Given the description of an element on the screen output the (x, y) to click on. 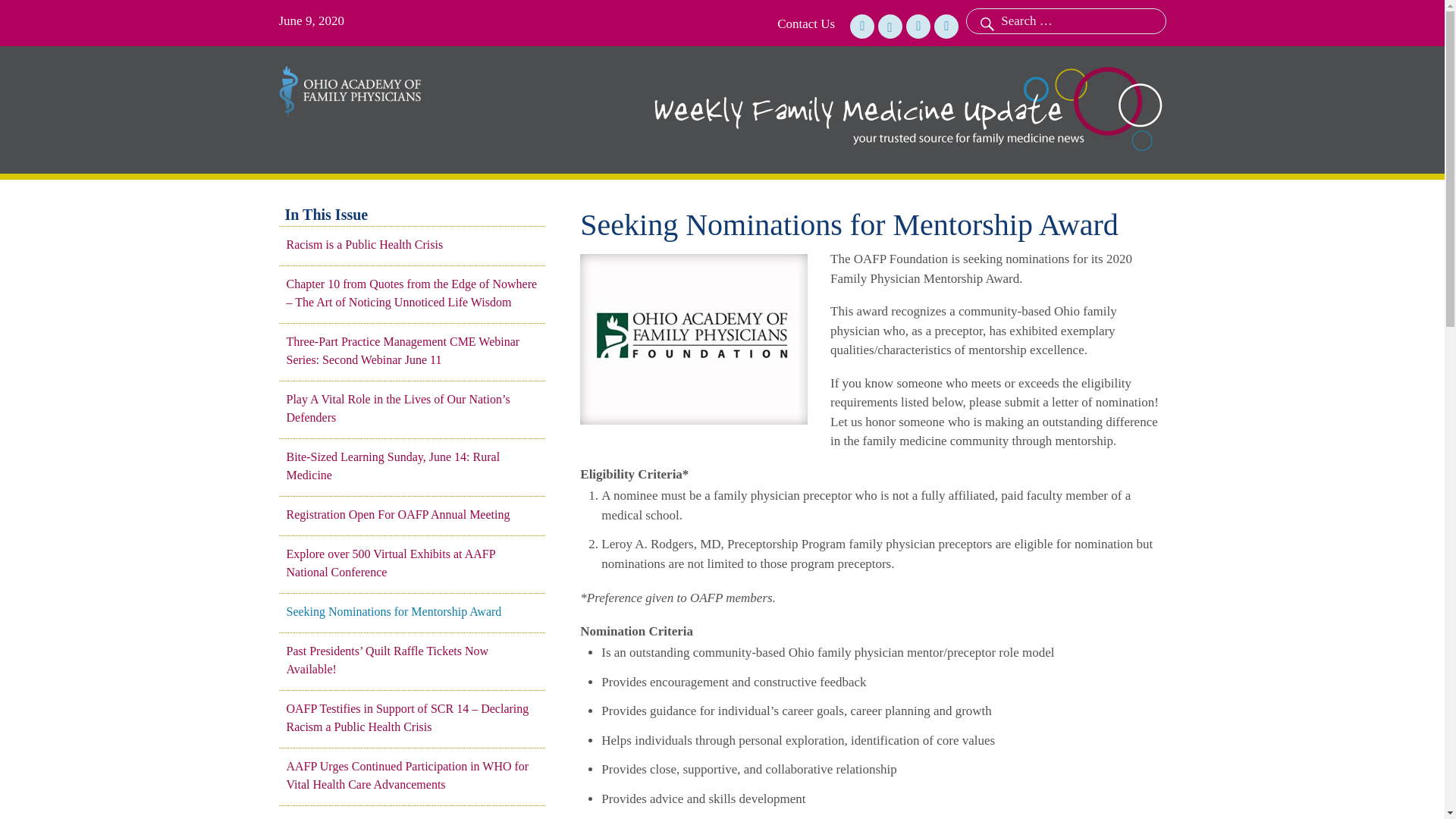
Registration Open For OAFP Annual Meeting (411, 515)
SEARCH (985, 21)
Racism is a Public Health Crisis (411, 244)
Ohio Health and Economic Disparities, Racism and Inequity (411, 816)
Seeking Nominations for Mentorship Award (411, 611)
Bite-Sized Learning Sunday, June 14: Rural Medicine (411, 465)
Contact Us (805, 24)
